Given the description of an element on the screen output the (x, y) to click on. 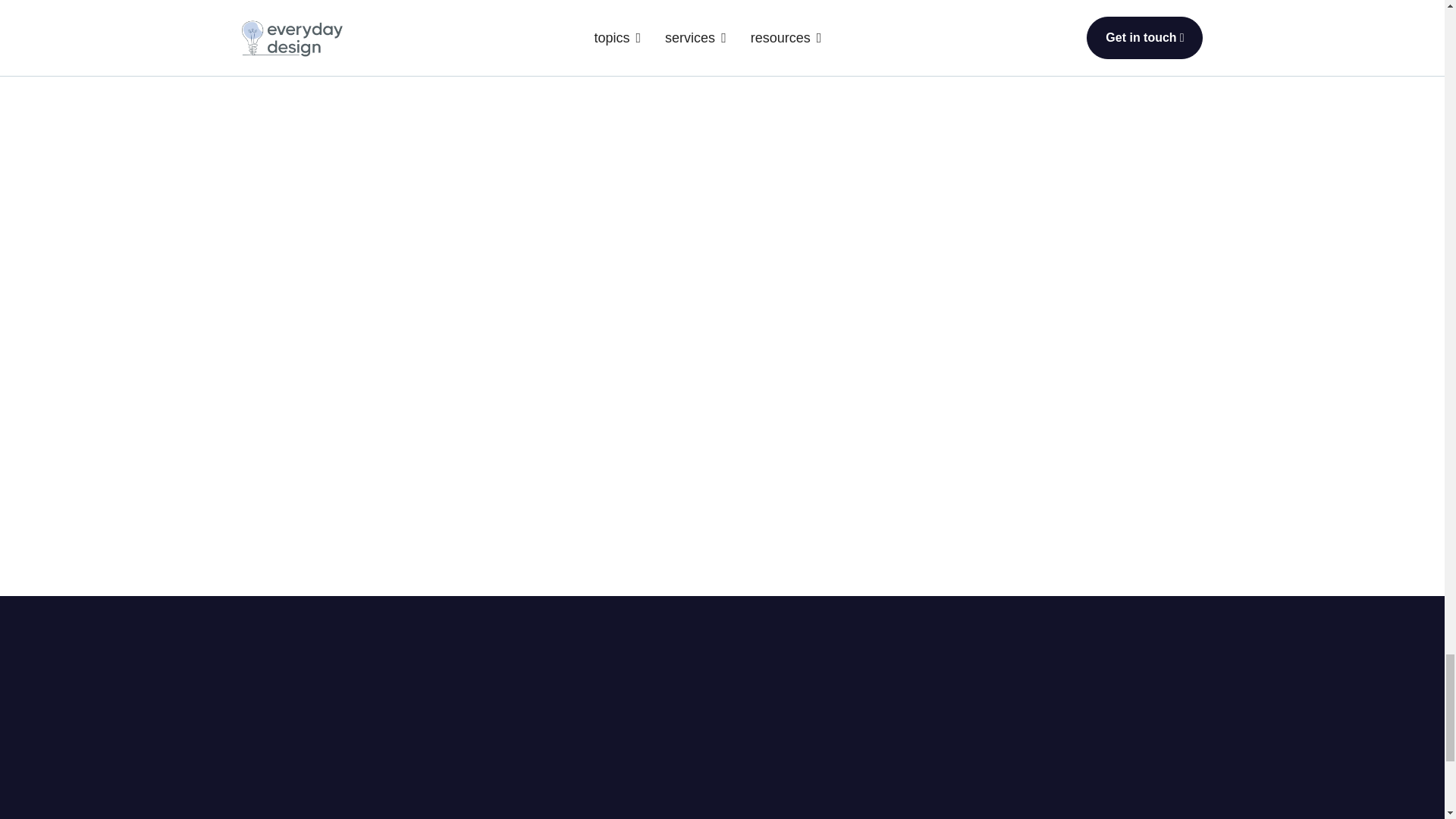
Send Message (558, 210)
